Given the description of an element on the screen output the (x, y) to click on. 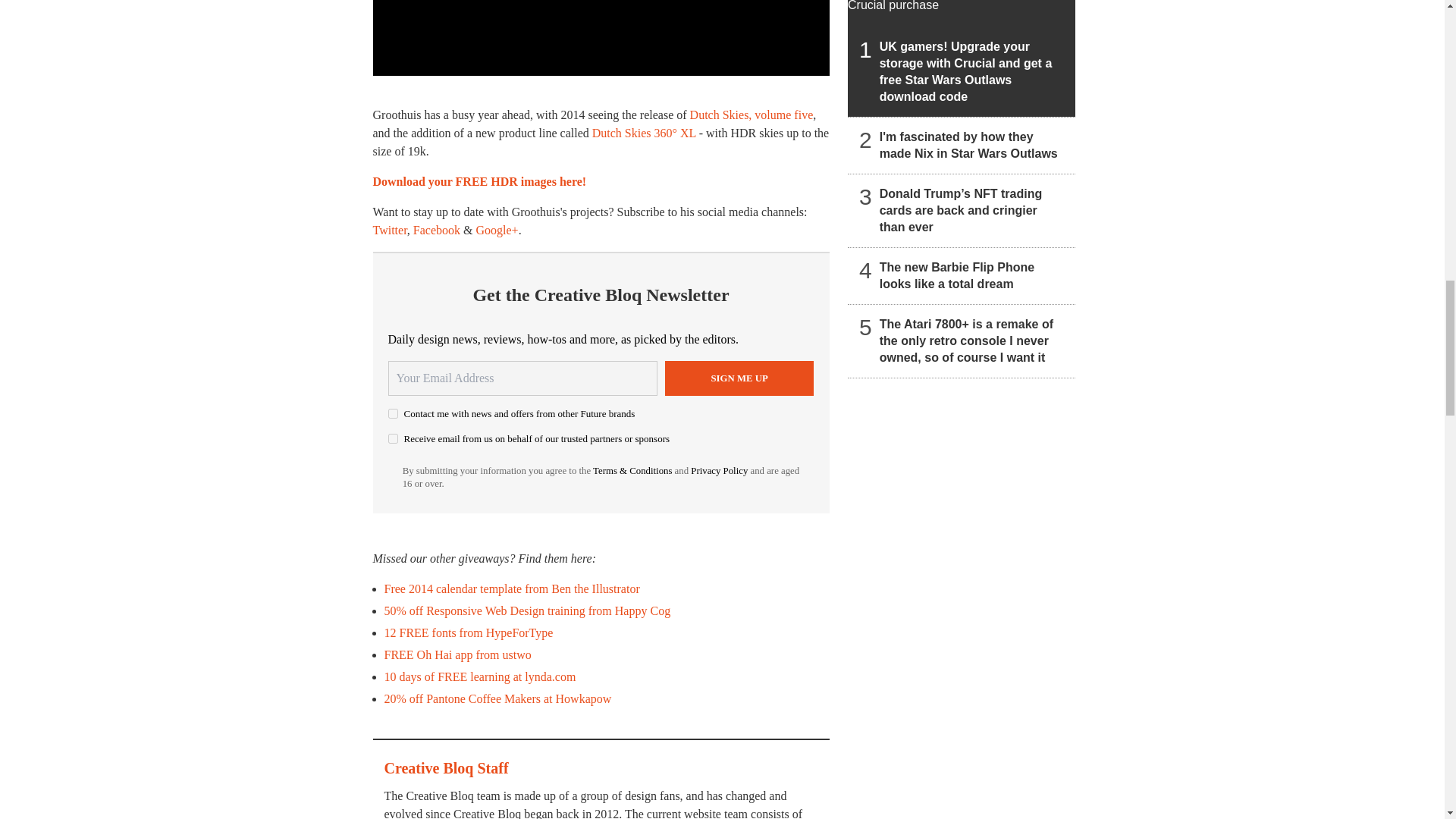
on (392, 413)
Sign me up (739, 378)
on (392, 438)
